Given the description of an element on the screen output the (x, y) to click on. 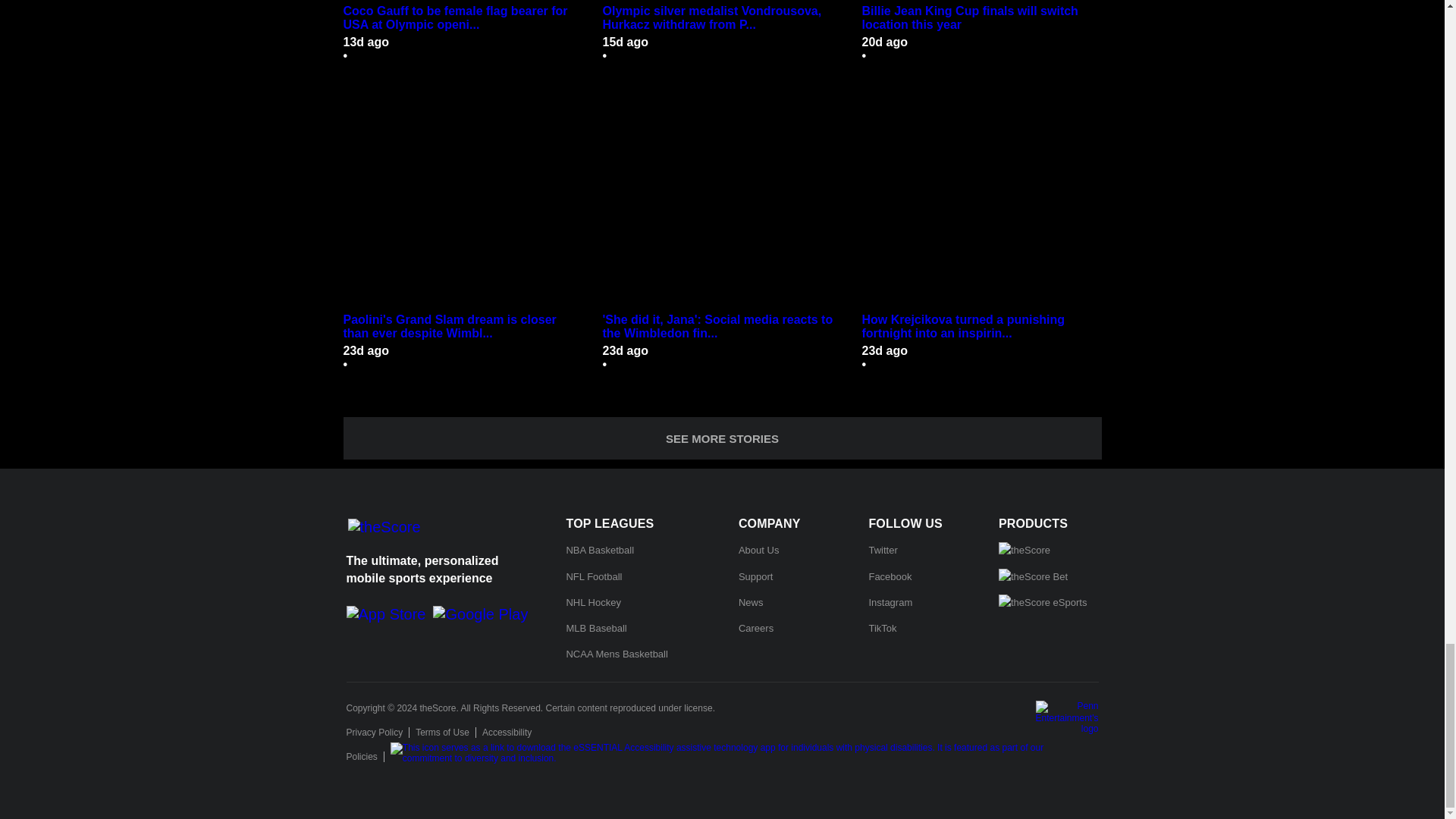
2024-07-22T14:10:04.000Z (624, 42)
Billie Jean King Cup finals will switch location this year (980, 17)
Billie Jean King Cup finals will switch location this year (980, 2)
2024-07-17T13:39:02.000Z (884, 42)
2024-07-24T11:30:02.000Z (365, 42)
